Given the description of an element on the screen output the (x, y) to click on. 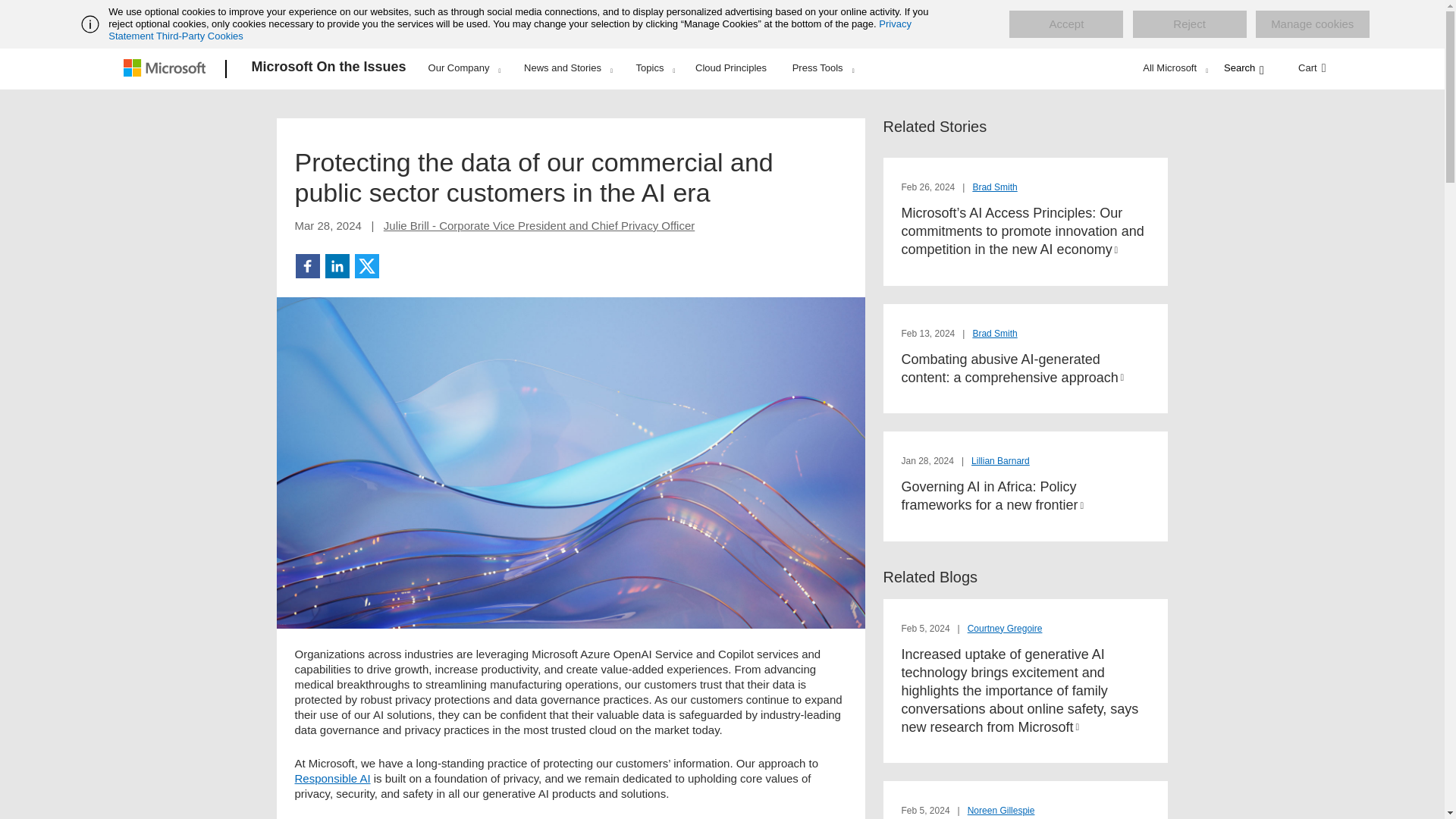
Our Company (463, 67)
Microsoft On the Issues (328, 69)
Microsoft (167, 69)
February 5, 2024 (926, 810)
Third-Party Cookies (199, 35)
News and Stories (567, 67)
Privacy Statement (509, 29)
January 28, 2024 (928, 460)
Reject (1189, 23)
Manage cookies (1312, 23)
Accept (1065, 23)
March 28, 2024 (327, 225)
February 13, 2024 (928, 333)
February 5, 2024 (926, 628)
February 26, 2024 (928, 186)
